Given the description of an element on the screen output the (x, y) to click on. 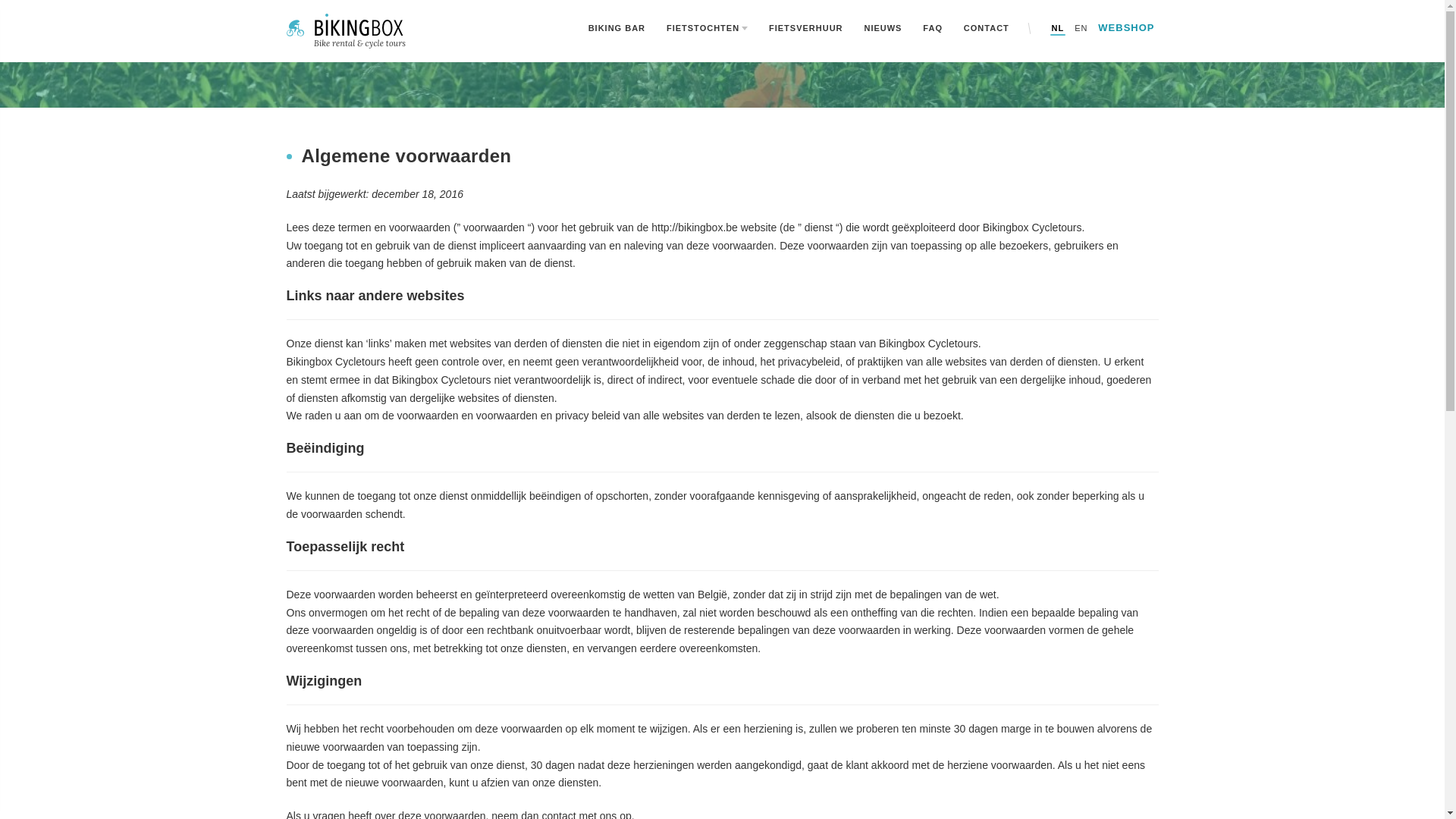
WEBSHOP Element type: text (1125, 27)
NL
VERANDER TAAL NAAR NEDERLANDS Element type: text (1058, 27)
CONTACT Element type: text (986, 27)
FIETSTOCHTEN Element type: text (707, 27)
NIEUWS Element type: text (882, 27)
BIKING BAR Element type: text (616, 27)
FAQ Element type: text (932, 27)
EN
VERANDER TAAL NAAR ENGLISH Element type: text (1080, 27)
FIETSVERHUUR Element type: text (805, 27)
Naar homepagina Element type: hover (345, 30)
